Given the description of an element on the screen output the (x, y) to click on. 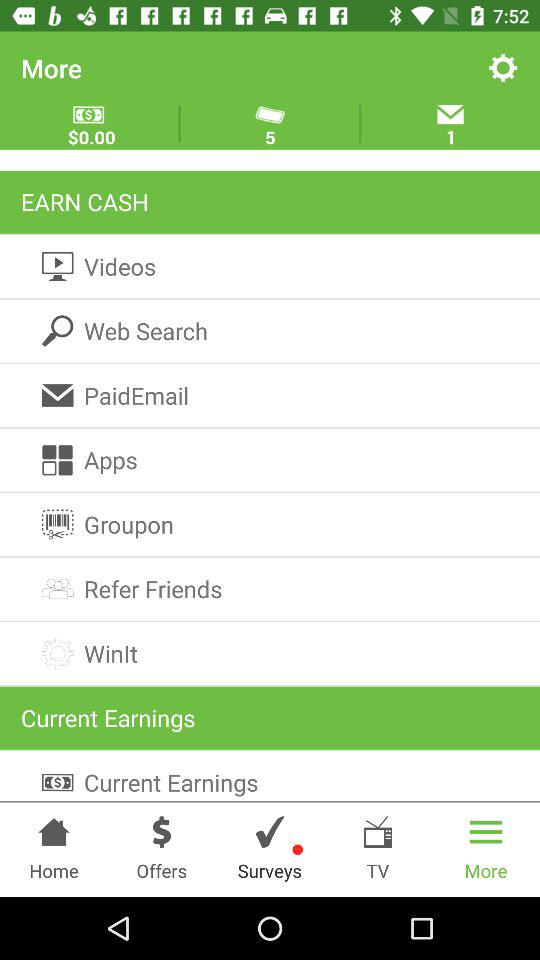
turn off the item above the web search icon (270, 266)
